Given the description of an element on the screen output the (x, y) to click on. 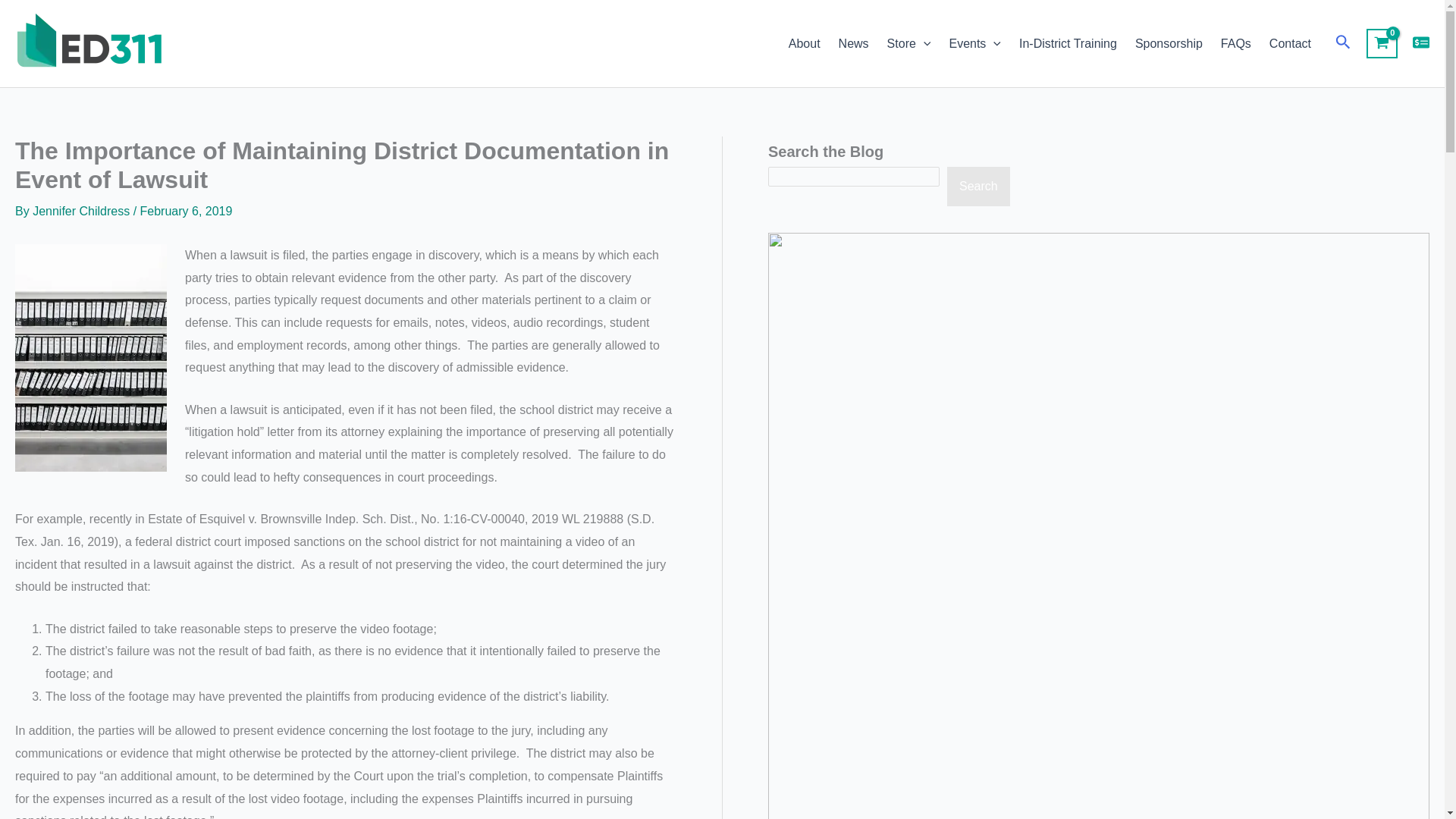
In-District Training (1067, 43)
Contact (1290, 43)
Events (974, 43)
View all posts by Jennifer Childress (82, 210)
Store (908, 43)
Search (978, 186)
Sponsorship (1168, 43)
